Given the description of an element on the screen output the (x, y) to click on. 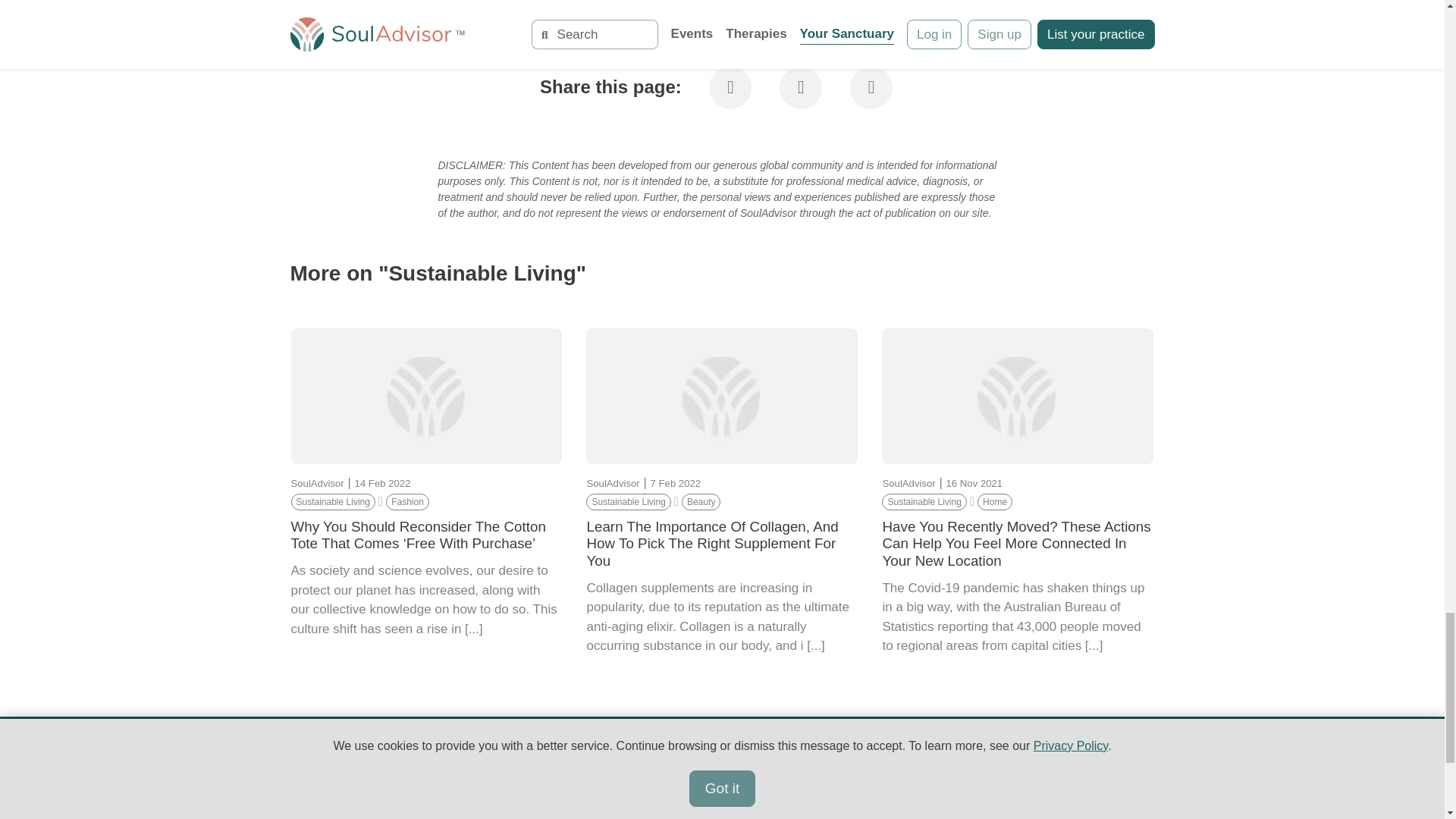
Share this page on LinkedIn (871, 88)
Share this page on Facebook (732, 88)
Share this page on Twitter (802, 88)
